Given the description of an element on the screen output the (x, y) to click on. 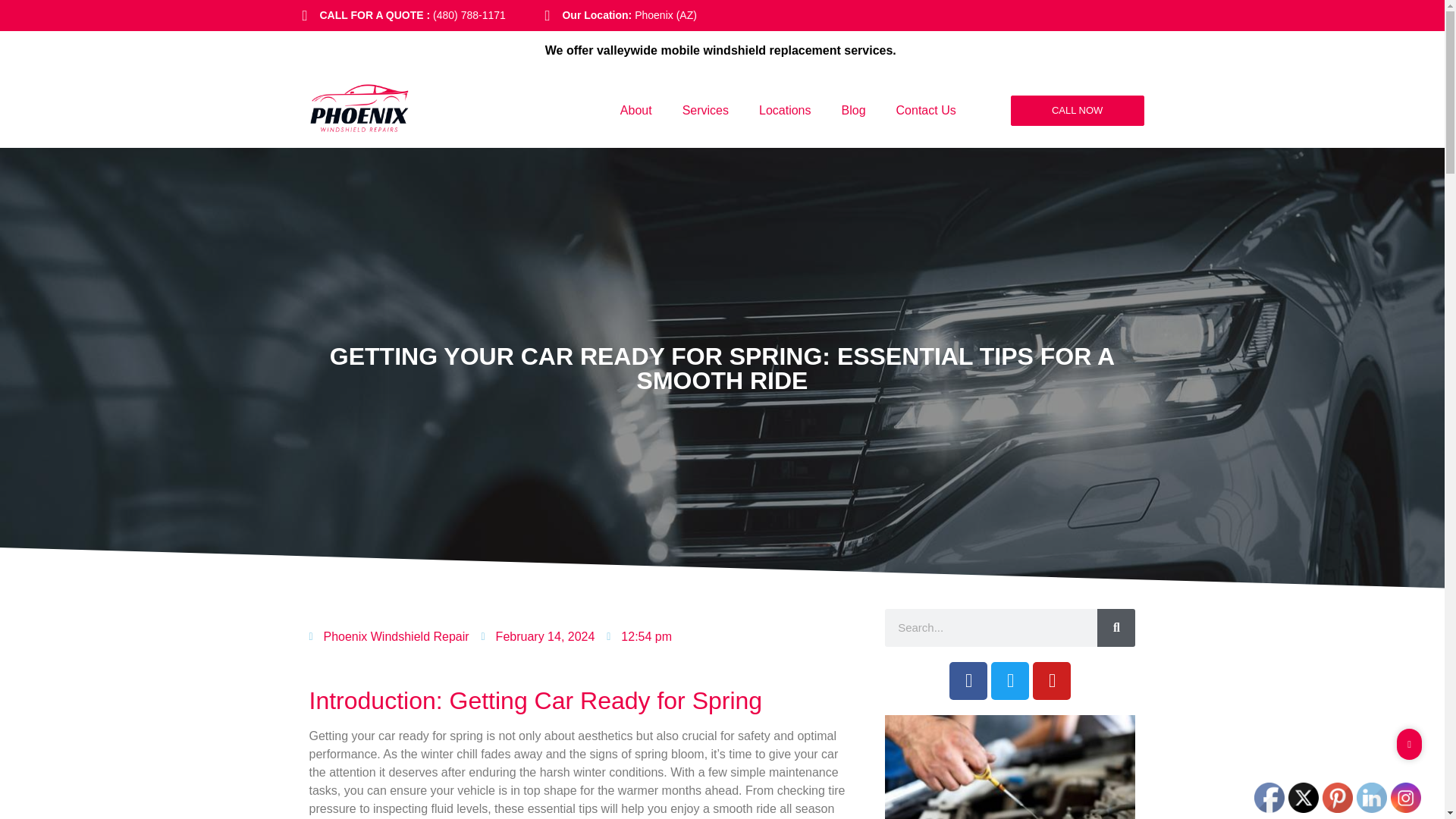
Facebook (1268, 797)
Phoenix Windshield Repair (388, 637)
Instagram (1405, 797)
Locations (785, 110)
About (635, 110)
Twitter (1303, 797)
Blog (853, 110)
CALL FOR A QUOTE : (376, 15)
Contact Us (925, 110)
CALL NOW (1077, 110)
February 14, 2024 (538, 637)
LinkedIn (1371, 797)
Services (705, 110)
Pinterest (1337, 797)
